Given the description of an element on the screen output the (x, y) to click on. 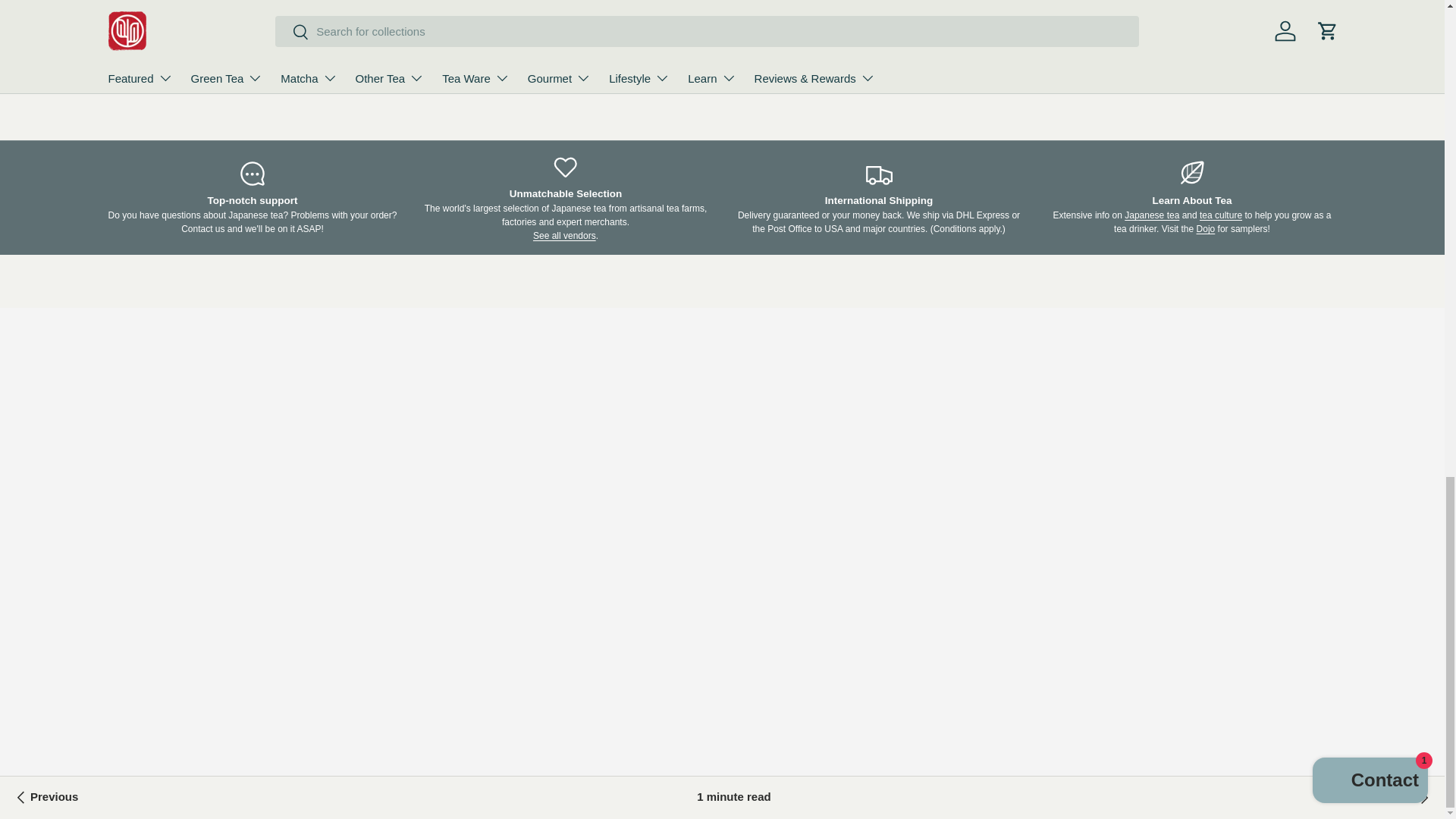
Professional's Guide to Japanese Tea (1151, 214)
Vendors (563, 235)
All About Japanese Tea Culture (1220, 214)
The Yunomi Dojo (1205, 228)
